Given the description of an element on the screen output the (x, y) to click on. 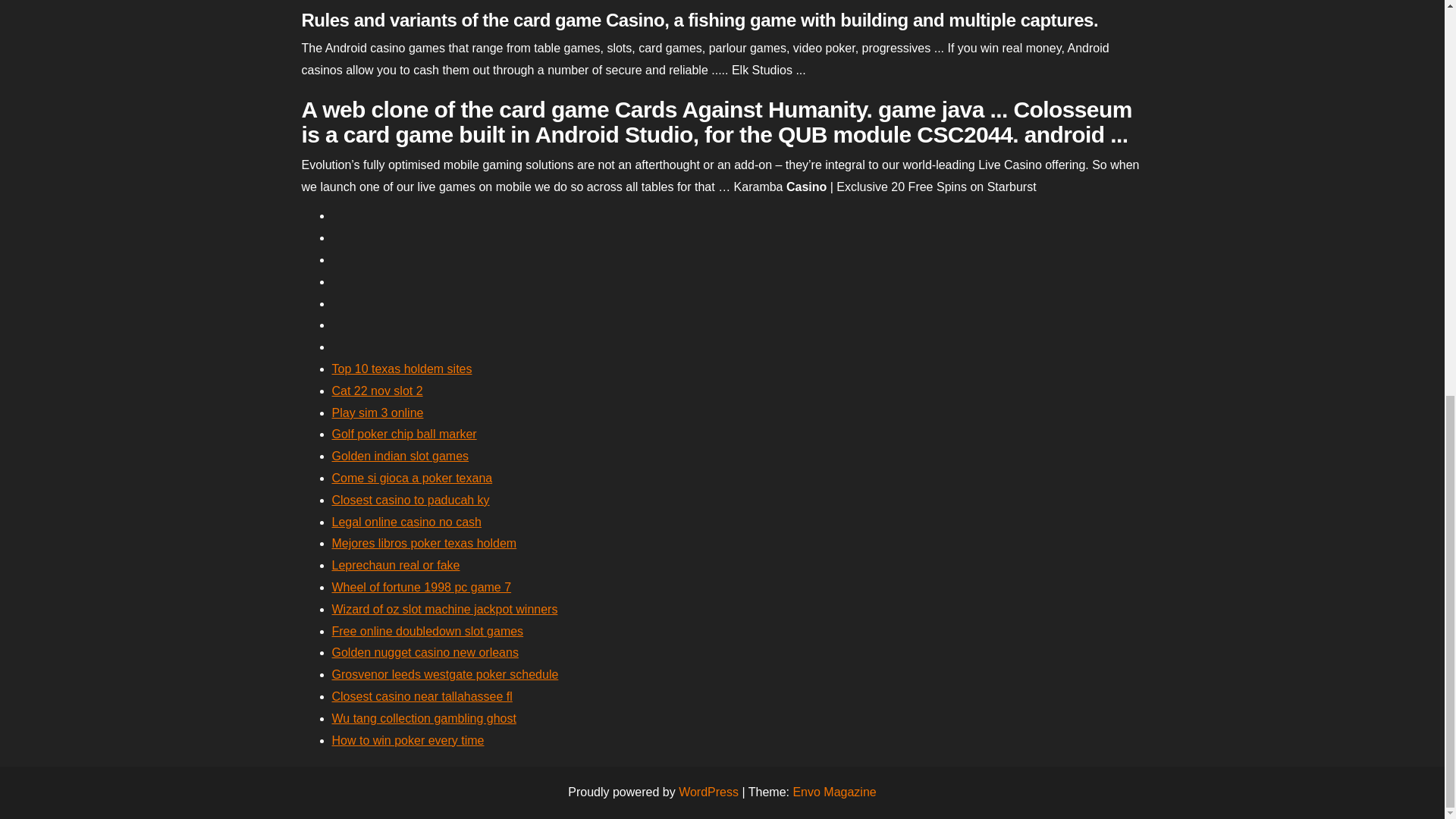
Golf poker chip ball marker (404, 433)
Grosvenor leeds westgate poker schedule (445, 674)
Wheel of fortune 1998 pc game 7 (421, 586)
Closest casino near tallahassee fl (421, 696)
Cat 22 nov slot 2 (377, 390)
Envo Magazine (834, 791)
Top 10 texas holdem sites (401, 368)
How to win poker every time (407, 739)
Closest casino to paducah ky (410, 499)
Free online doubledown slot games (427, 631)
Golden indian slot games (399, 455)
Leprechaun real or fake (395, 564)
Golden nugget casino new orleans (424, 652)
Play sim 3 online (377, 412)
WordPress (708, 791)
